Given the description of an element on the screen output the (x, y) to click on. 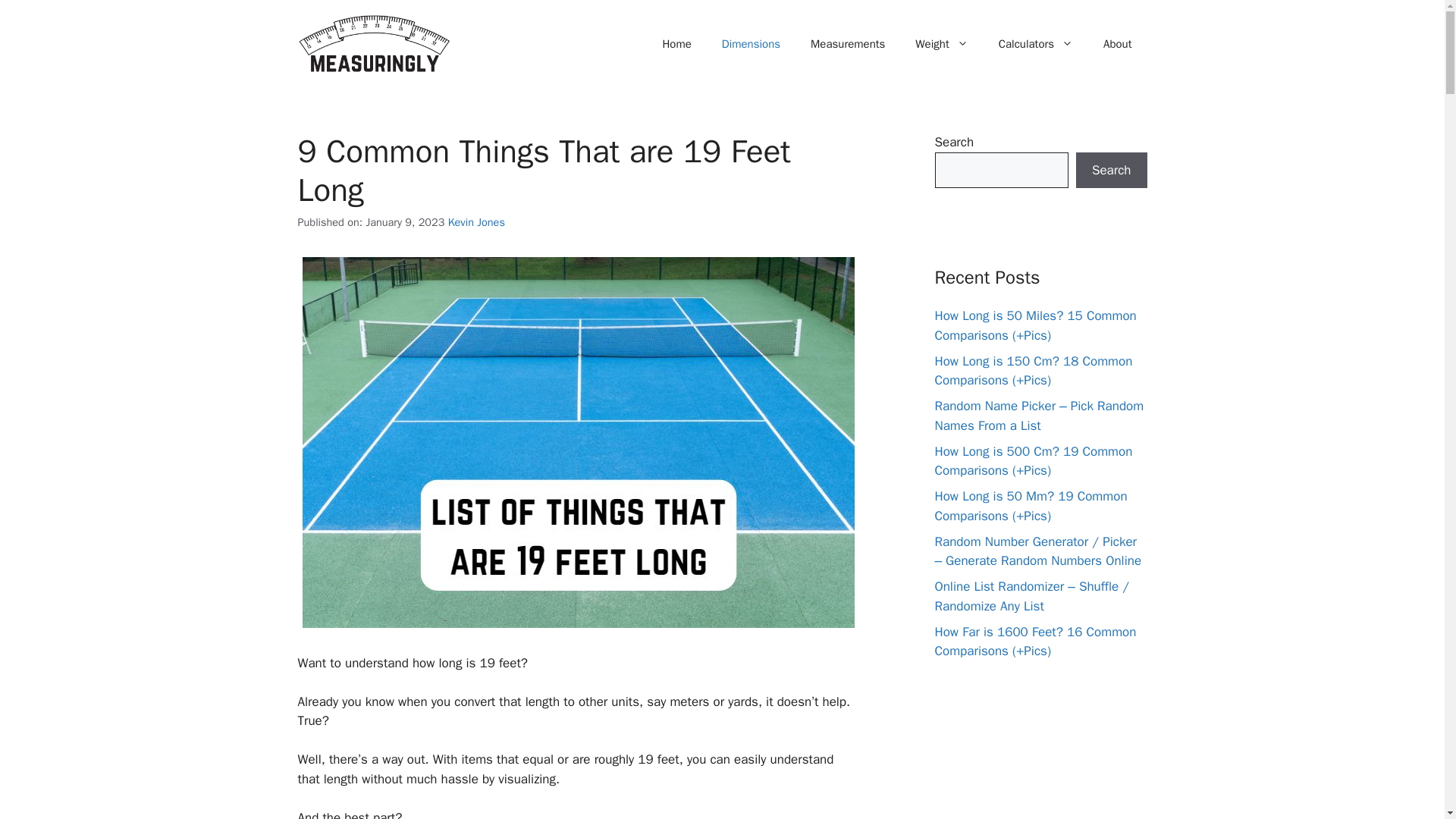
Kevin Jones (476, 222)
Dimensions (750, 43)
Measurements (846, 43)
Calculators (1035, 43)
About (1117, 43)
Home (676, 43)
Kevin Jones (476, 222)
Weight (940, 43)
